Given the description of an element on the screen output the (x, y) to click on. 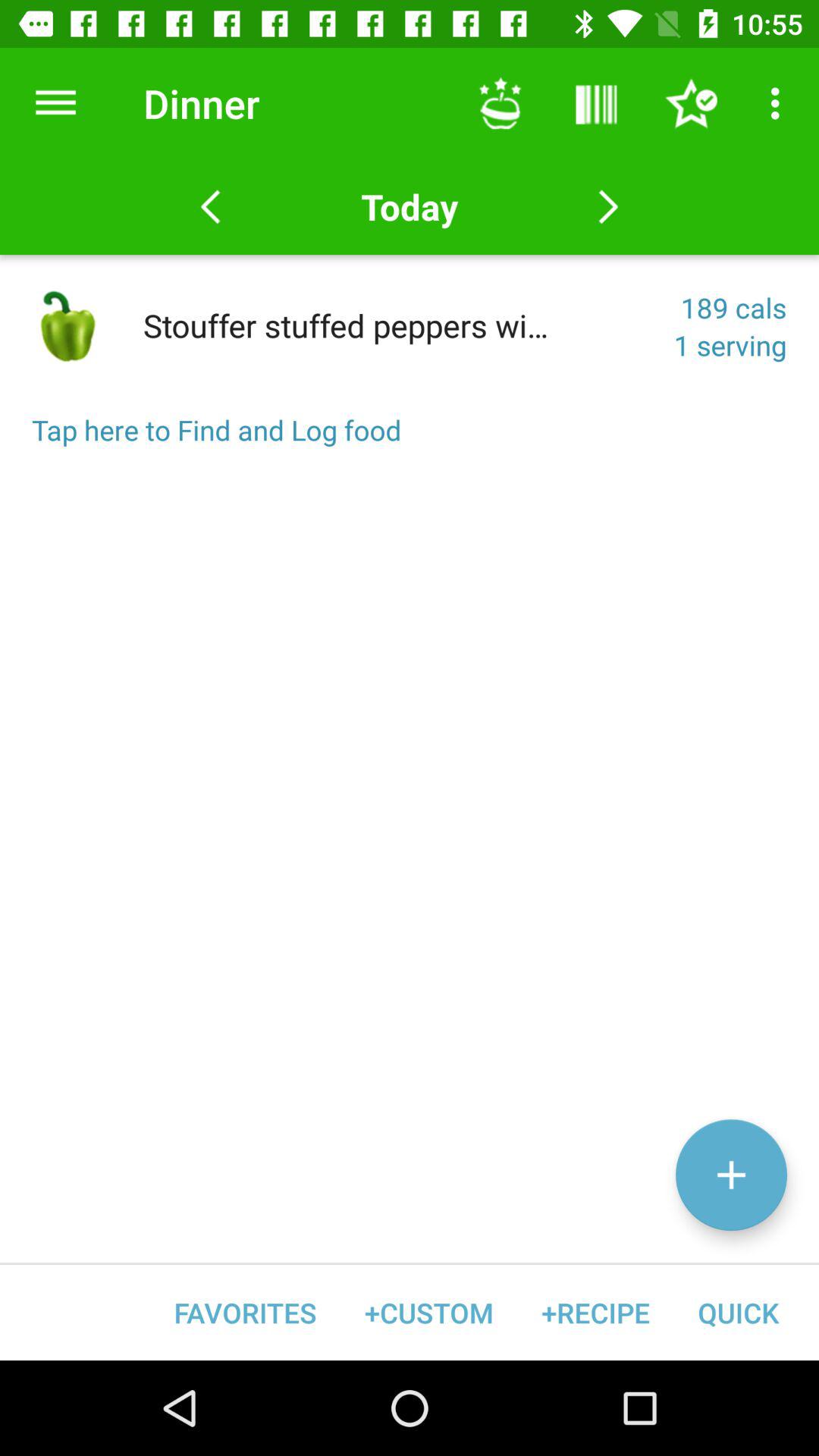
press the icon to the right of the dinner item (500, 103)
